Given the description of an element on the screen output the (x, y) to click on. 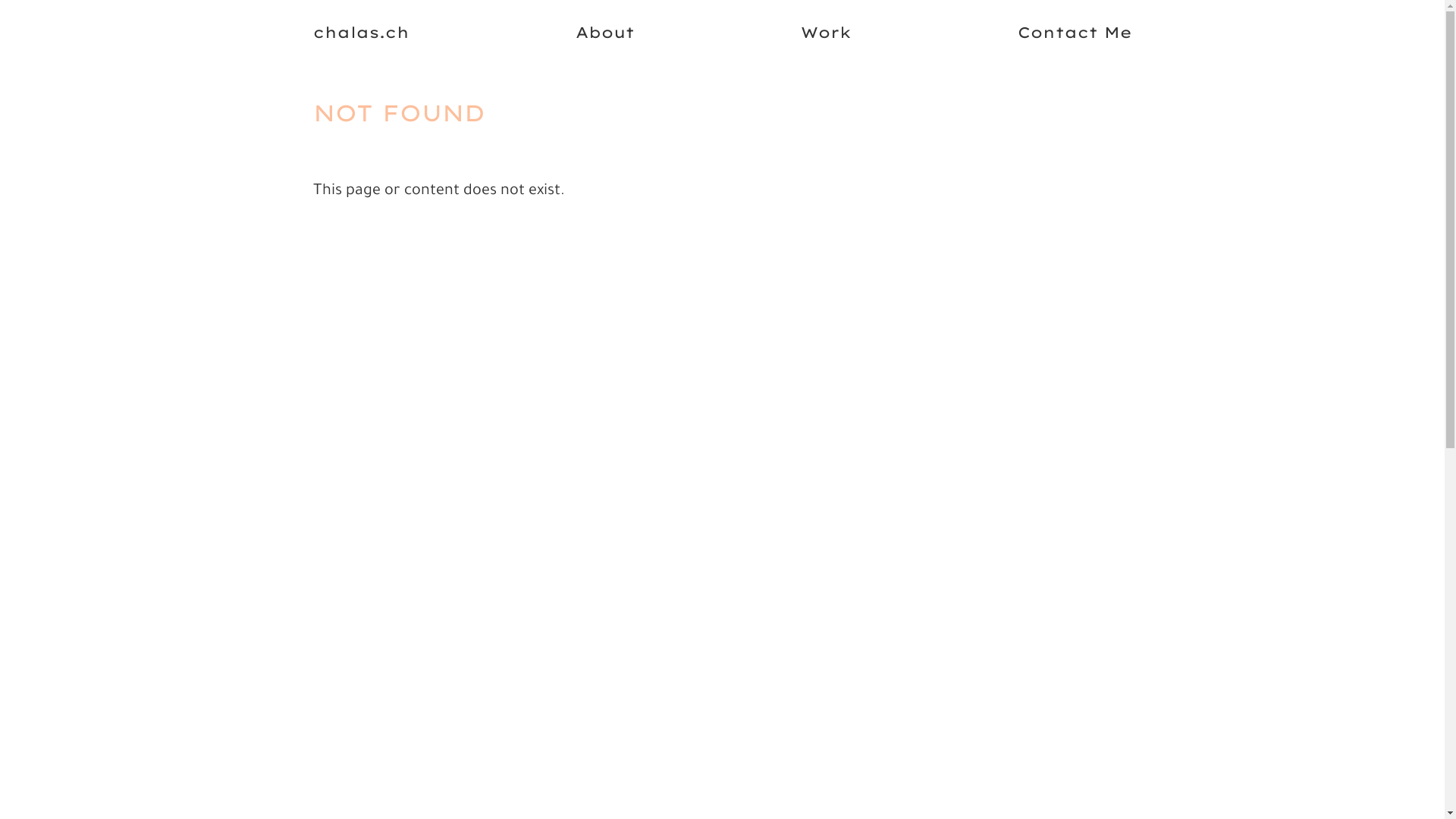
chalas.ch Element type: text (360, 31)
Work Element type: text (825, 31)
About Element type: text (603, 31)
Contact Me Element type: text (1074, 31)
